Given the description of an element on the screen output the (x, y) to click on. 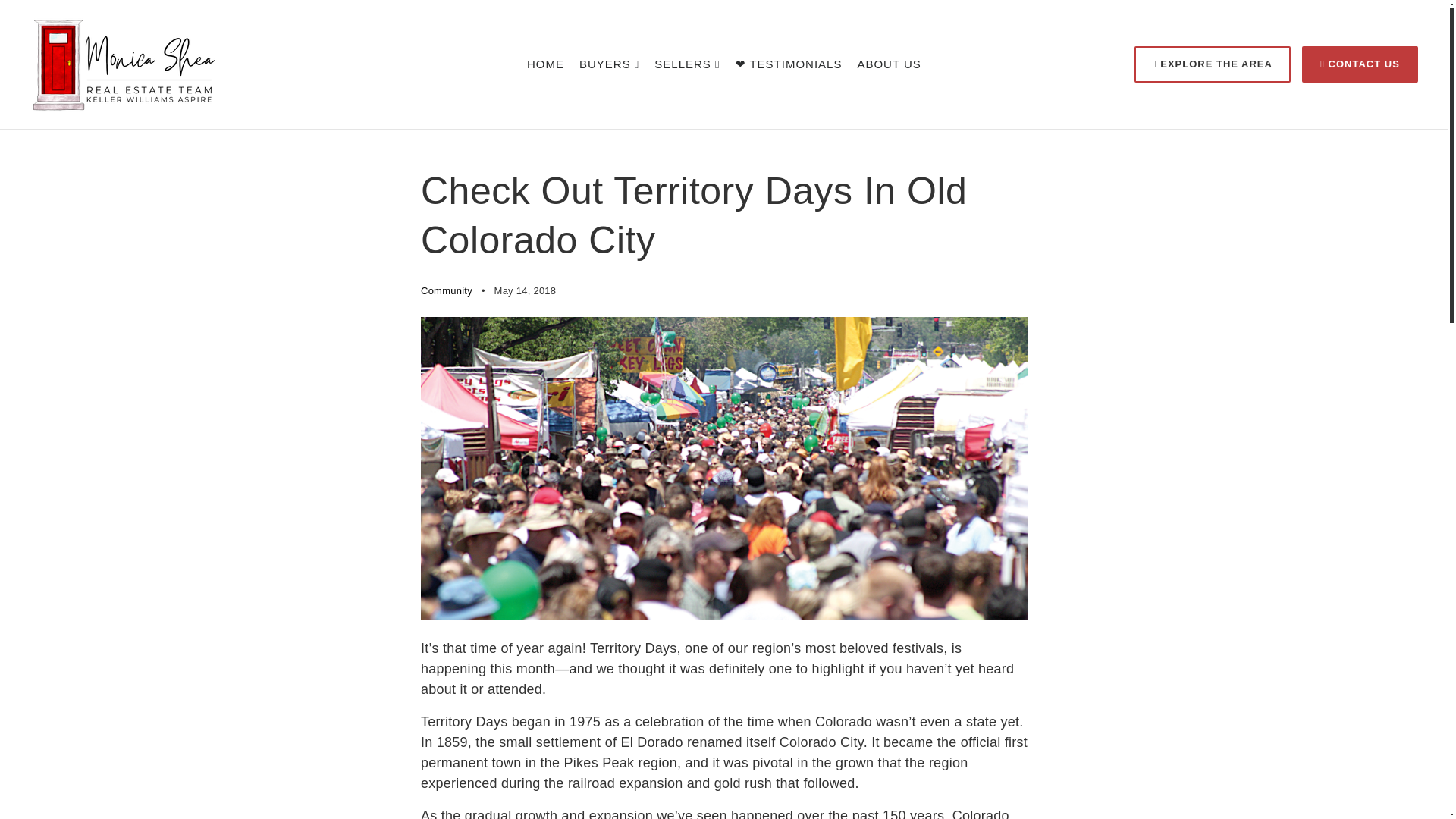
Homepage (545, 64)
Buyers Links (609, 64)
HOME (545, 64)
Sellers Links (686, 64)
ABOUT US (888, 64)
Testimonials (789, 64)
BUYERS (609, 64)
EXPLORE THE AREA (1212, 63)
About Us (888, 64)
SELLERS (686, 64)
CONTACT US (1359, 63)
